Given the description of an element on the screen output the (x, y) to click on. 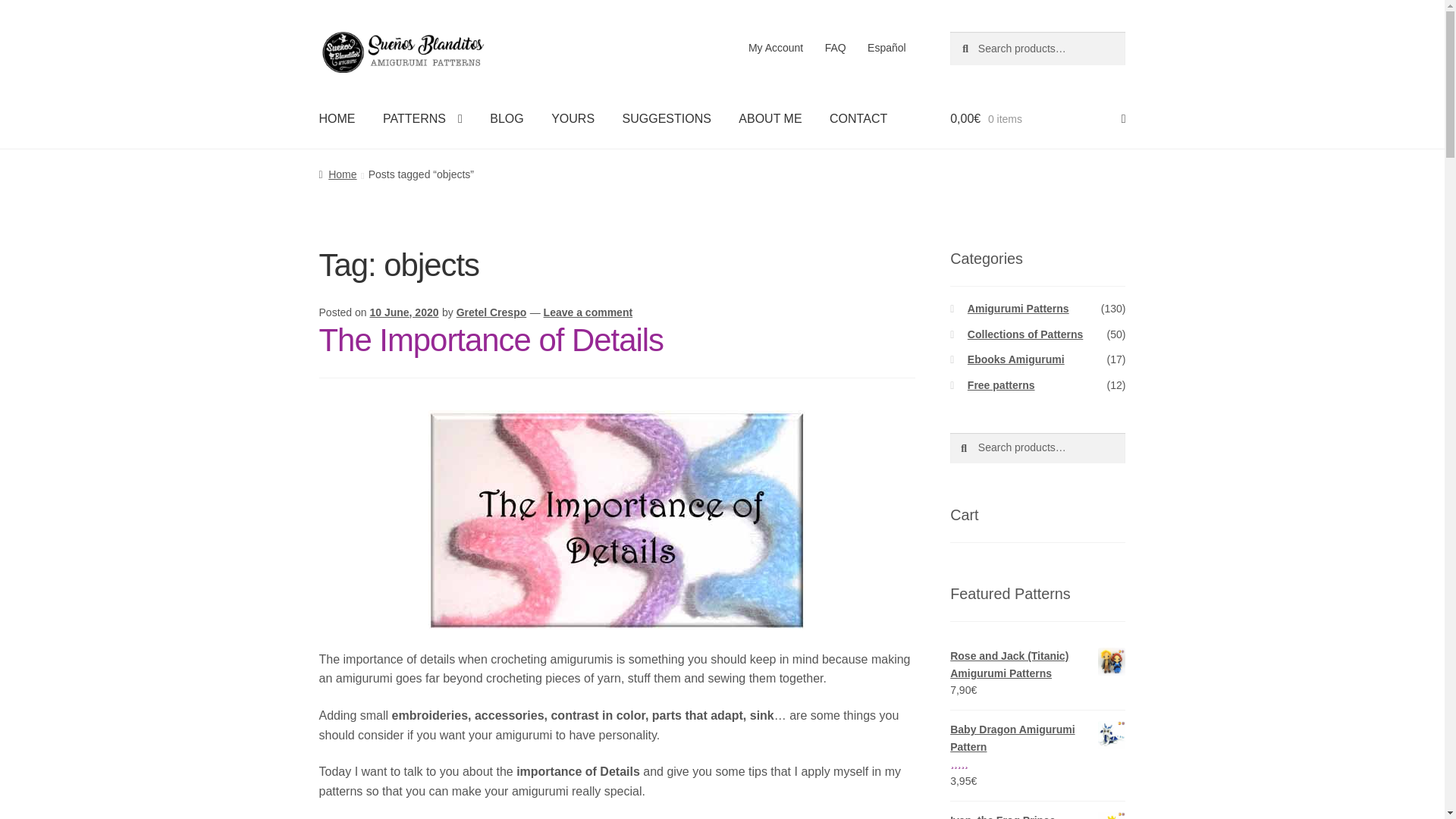
PATTERNS (422, 118)
Home (337, 174)
View your shopping cart (1037, 118)
The Importance of Details (490, 339)
Gretel Crespo (492, 312)
SUGGESTIONS (666, 118)
BLOG (506, 118)
10 June, 2020 (403, 312)
HOME (337, 118)
FAQ (835, 47)
Leave a comment (588, 312)
CONTACT (857, 118)
My Account (775, 47)
ABOUT ME (769, 118)
